Given the description of an element on the screen output the (x, y) to click on. 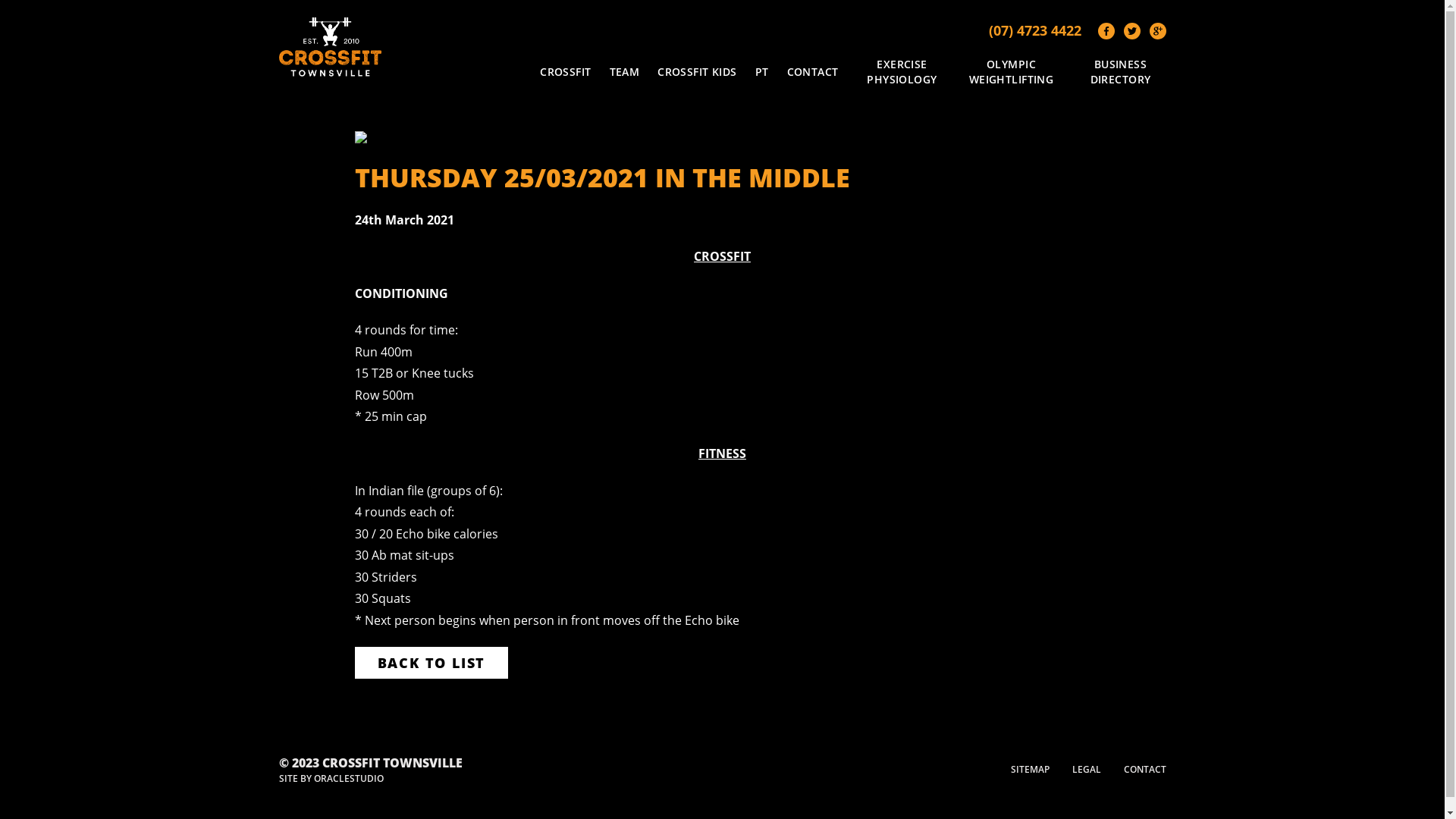
ORACLESTUDIO Element type: text (348, 777)
BACK TO LIST Element type: text (431, 662)
SITEMAP Element type: text (1029, 769)
CROSSFIT KIDS Element type: text (696, 71)
CONTACT Element type: text (812, 71)
EXERCISE PHYSIOLOGY Element type: text (901, 71)
PT Element type: text (761, 71)
CROSSFIT Element type: text (564, 71)
TEAM Element type: text (624, 71)
(07) 4723 4422 Element type: text (1034, 29)
OLYMPIC WEIGHTLIFTING Element type: text (1011, 71)
CONTACT Element type: text (1144, 769)
BUSINESS DIRECTORY Element type: text (1120, 71)
LEGAL Element type: text (1086, 769)
